Given the description of an element on the screen output the (x, y) to click on. 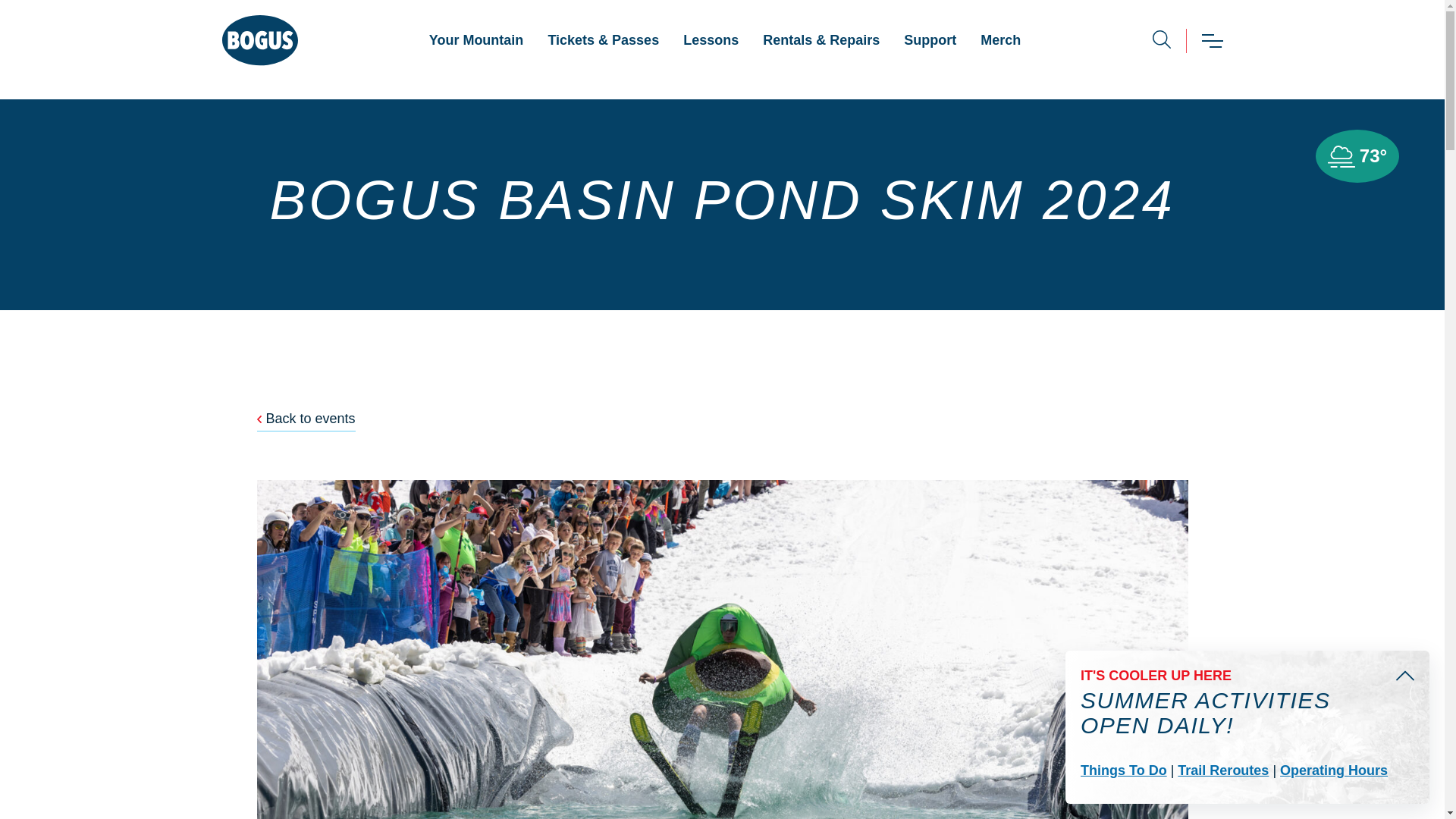
Your Mountain (475, 40)
Lessons (711, 40)
